Given the description of an element on the screen output the (x, y) to click on. 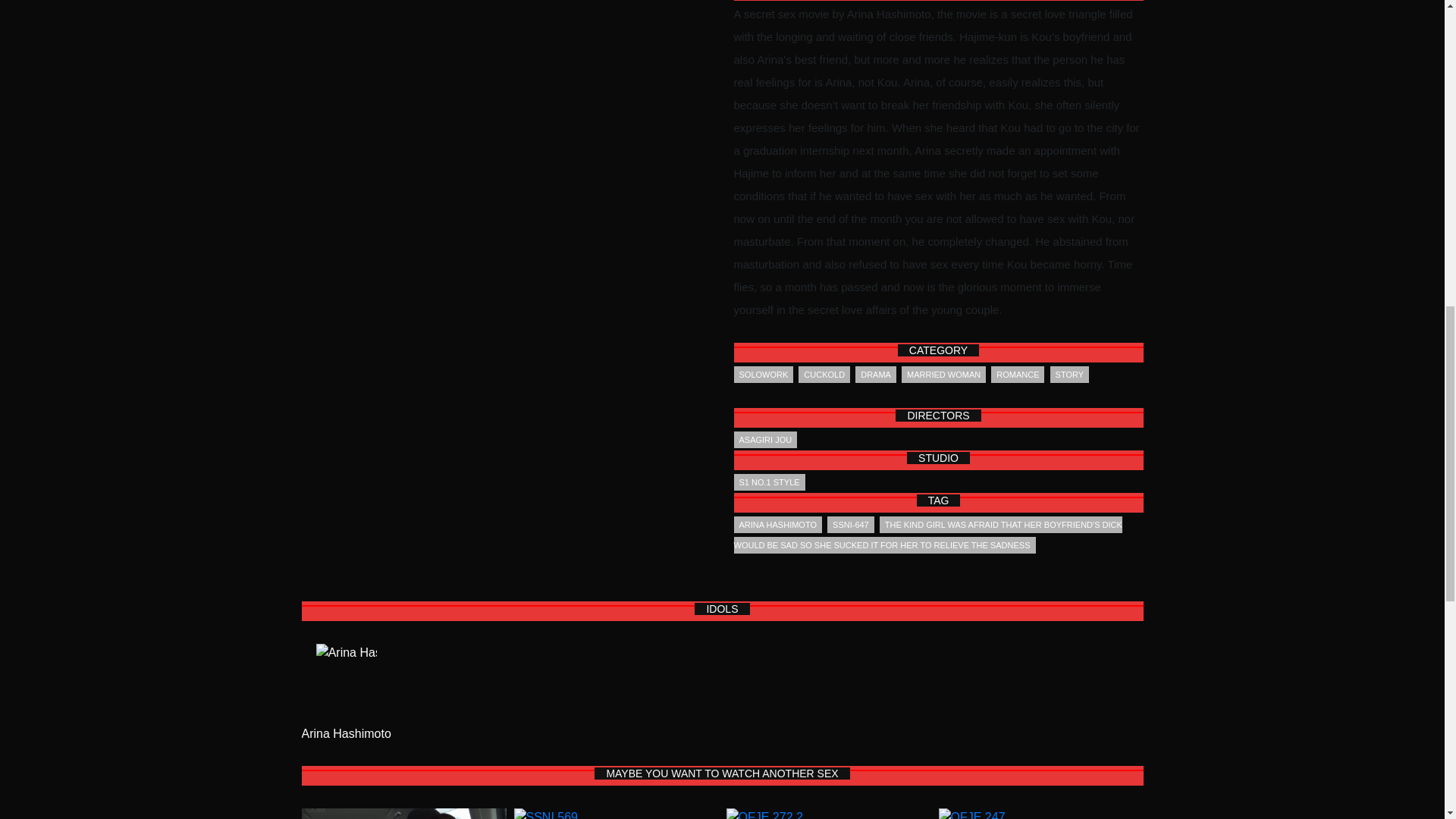
SSNI-647 (851, 524)
ROMANCE (1017, 374)
Arina Hashimoto (346, 733)
SOLOWORK (763, 374)
Arina Hashimoto (346, 683)
STORY (1069, 374)
CUCKOLD (823, 374)
Arina Hashimoto (346, 733)
S1 NO.1 STYLE (769, 482)
ASAGIRI JOU (765, 439)
ARINA HASHIMOTO (777, 524)
DRAMA (876, 374)
MARRIED WOMAN (943, 374)
